Given the description of an element on the screen output the (x, y) to click on. 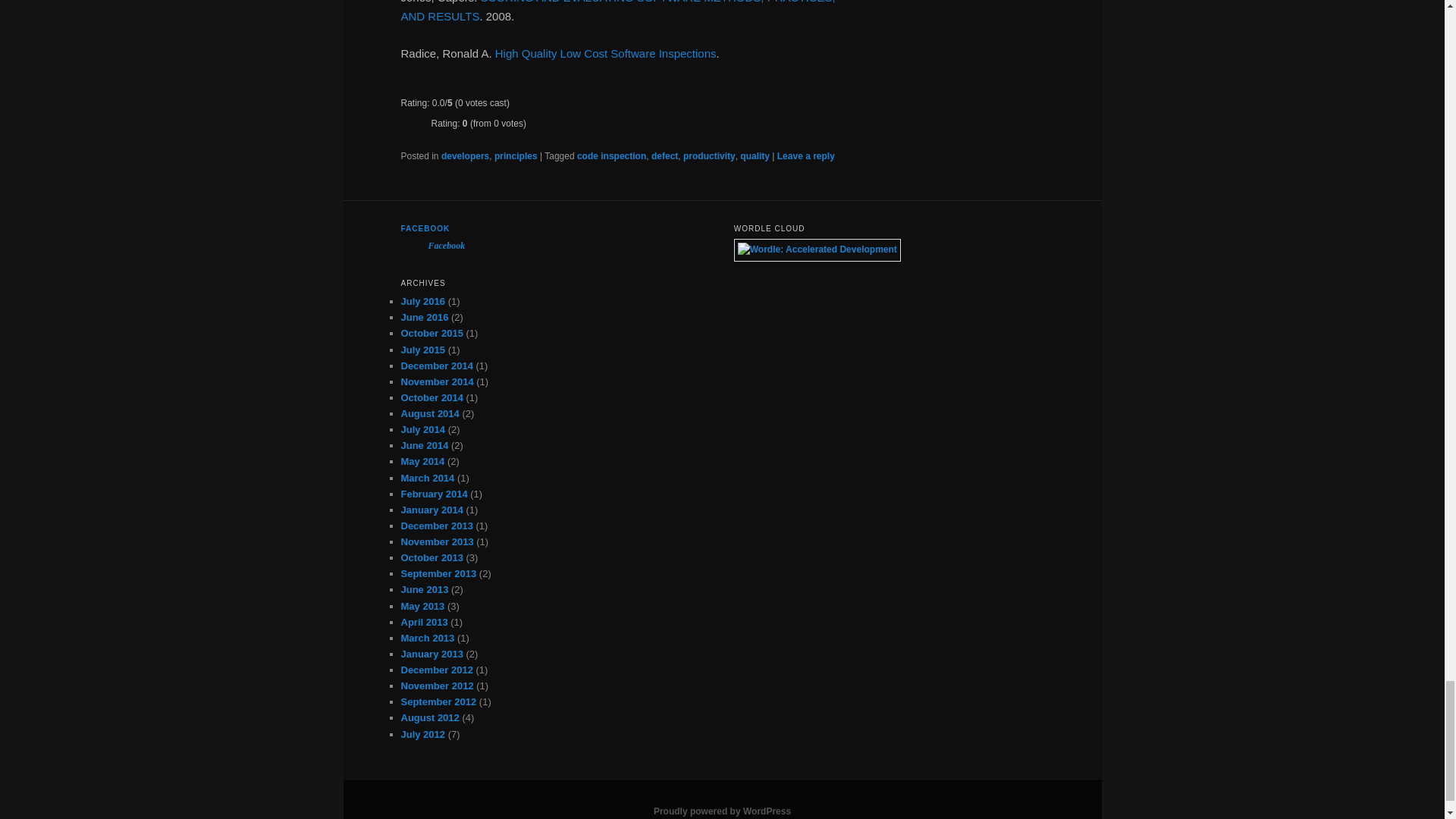
Wordle: Accelerated Development (817, 249)
Semantic Personal Publishing Platform (721, 810)
